Given the description of an element on the screen output the (x, y) to click on. 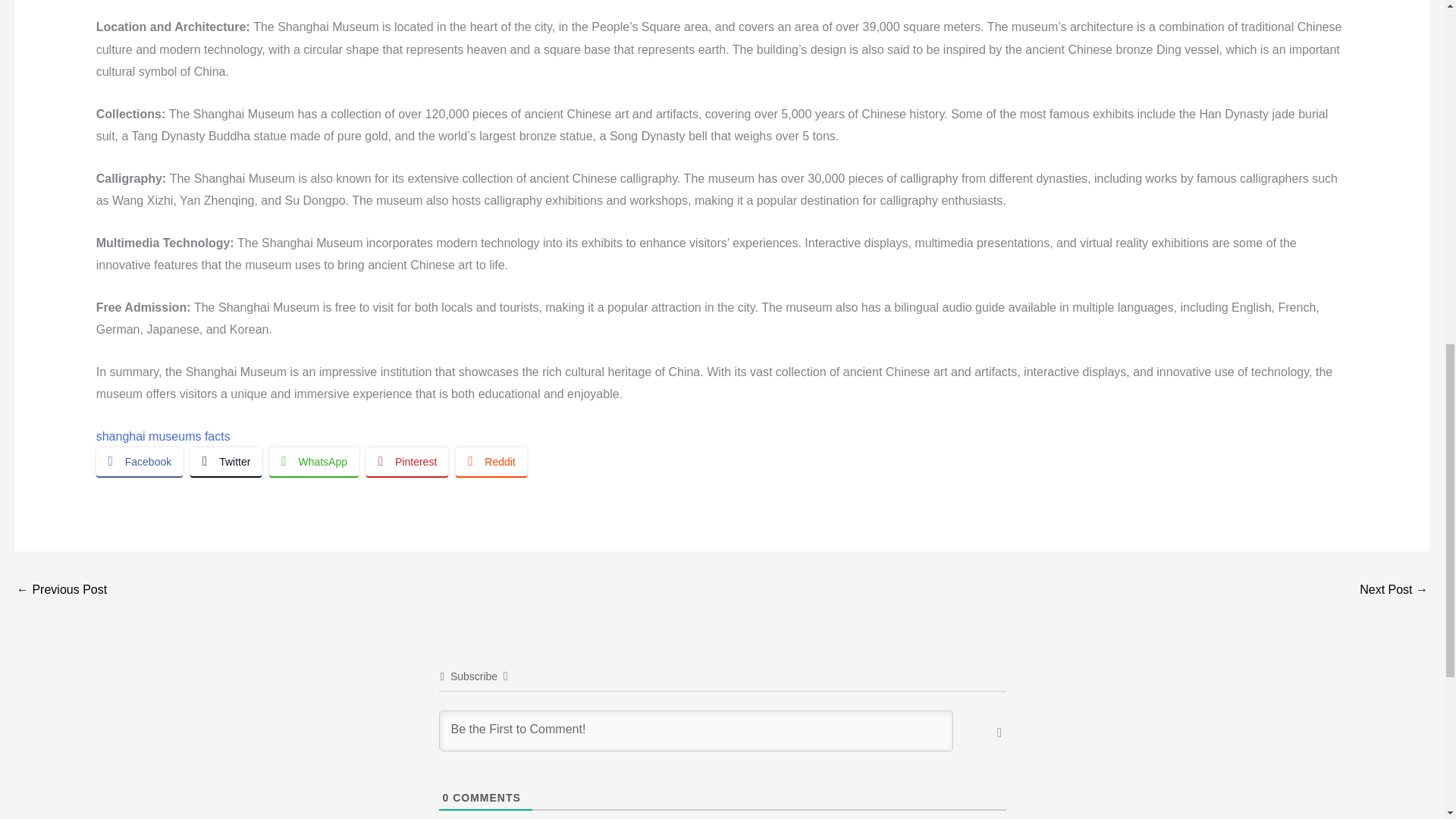
5 things to do in Old Summer Palace (61, 591)
